Given the description of an element on the screen output the (x, y) to click on. 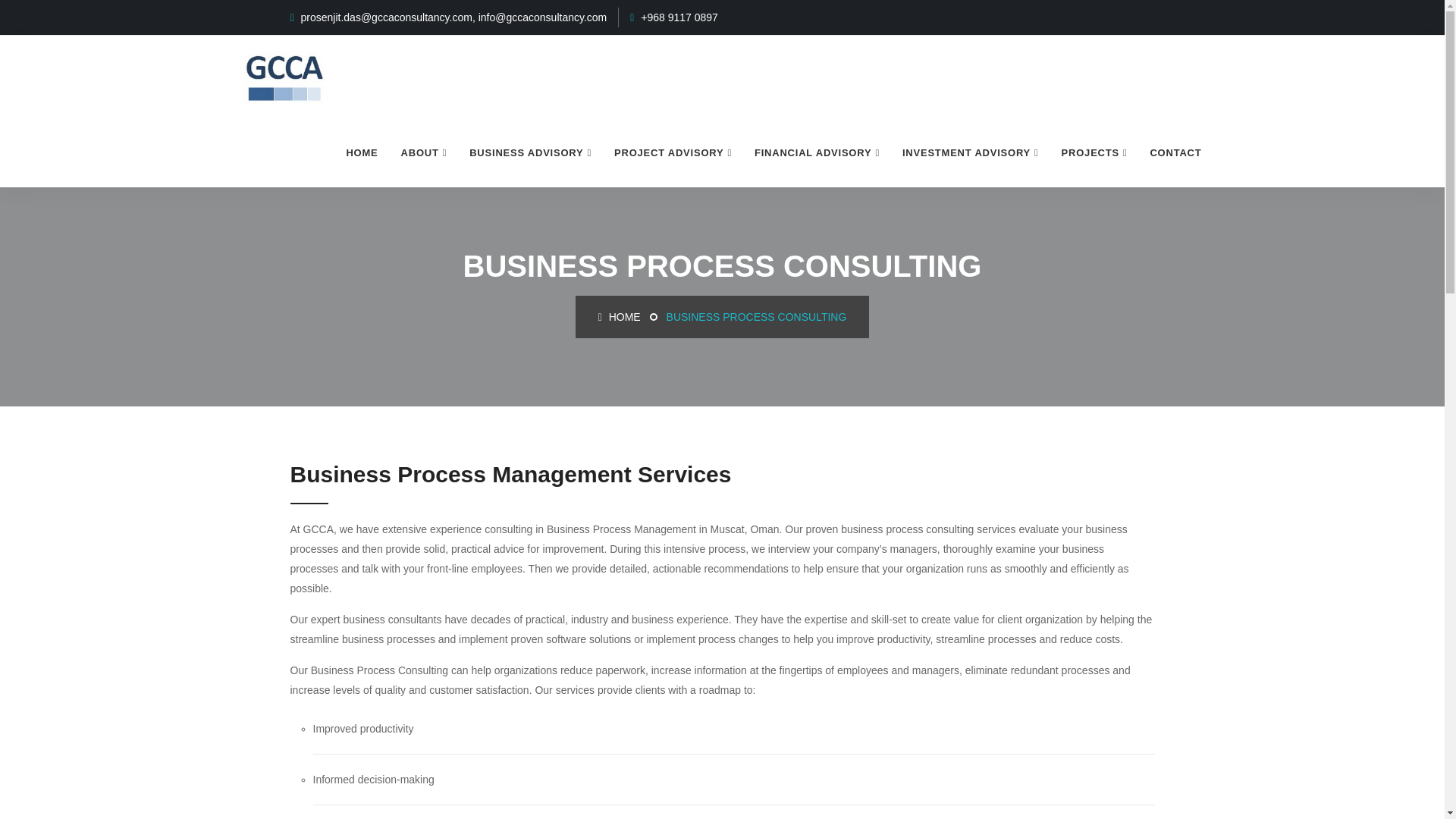
PROJECTS (1093, 152)
PROJECT ADVISORY (672, 152)
ABOUT (424, 152)
FINANCIAL ADVISORY (816, 152)
INVESTMENT ADVISORY (970, 152)
BUSINESS ADVISORY (530, 152)
